Given the description of an element on the screen output the (x, y) to click on. 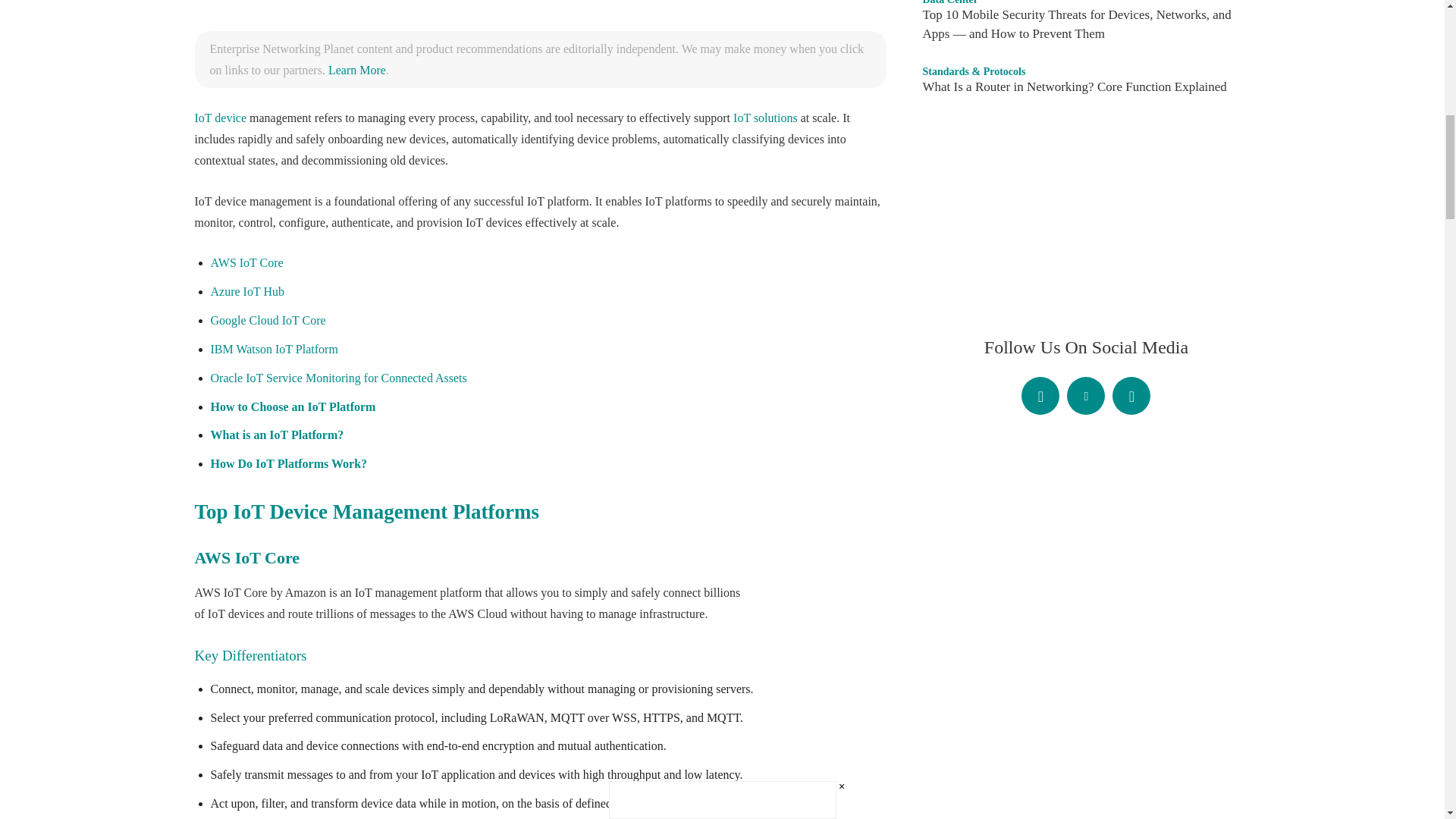
IoT device (219, 117)
IoT solutions (765, 117)
Learn More (357, 69)
